Given the description of an element on the screen output the (x, y) to click on. 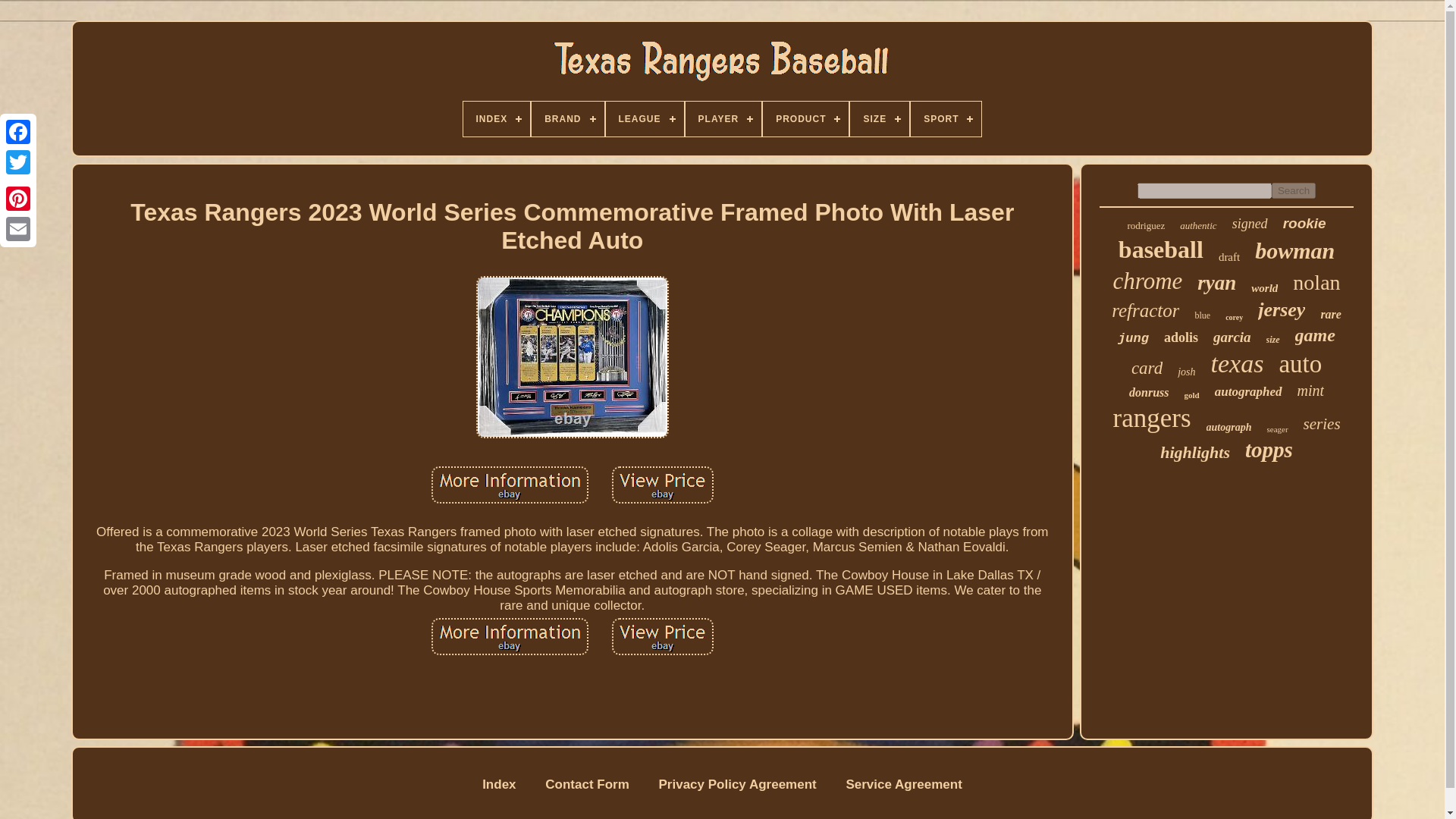
BRAND (567, 118)
INDEX (496, 118)
Search (1293, 190)
LEAGUE (644, 118)
